Given the description of an element on the screen output the (x, y) to click on. 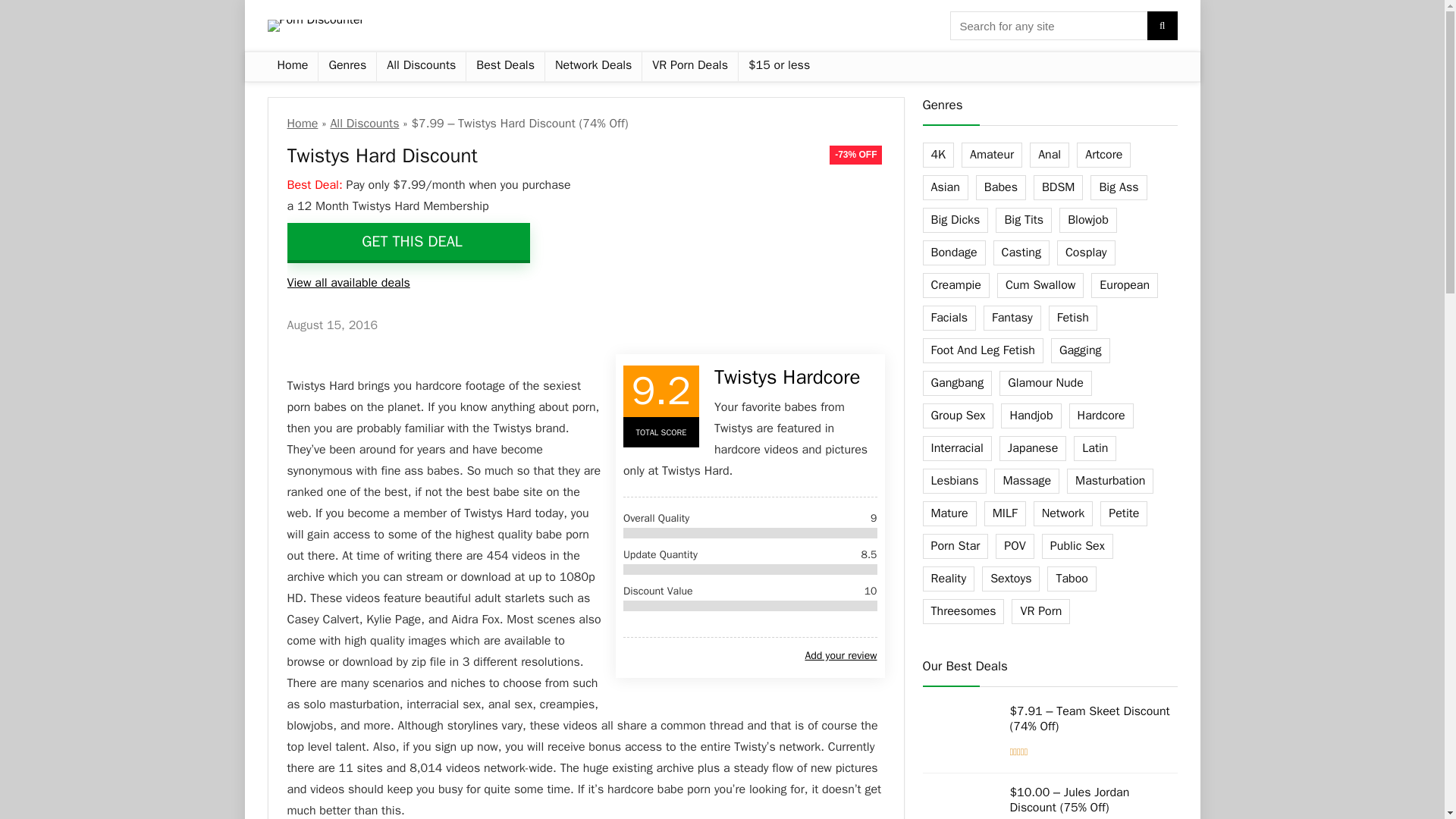
Amateur (991, 154)
4K (937, 154)
Best Deals (504, 66)
All Discounts (421, 66)
Cheap Porn (778, 66)
GET THIS DEAL (407, 242)
View all available deals (347, 282)
Home (291, 66)
Home (301, 123)
Add your review (840, 655)
